Given the description of an element on the screen output the (x, y) to click on. 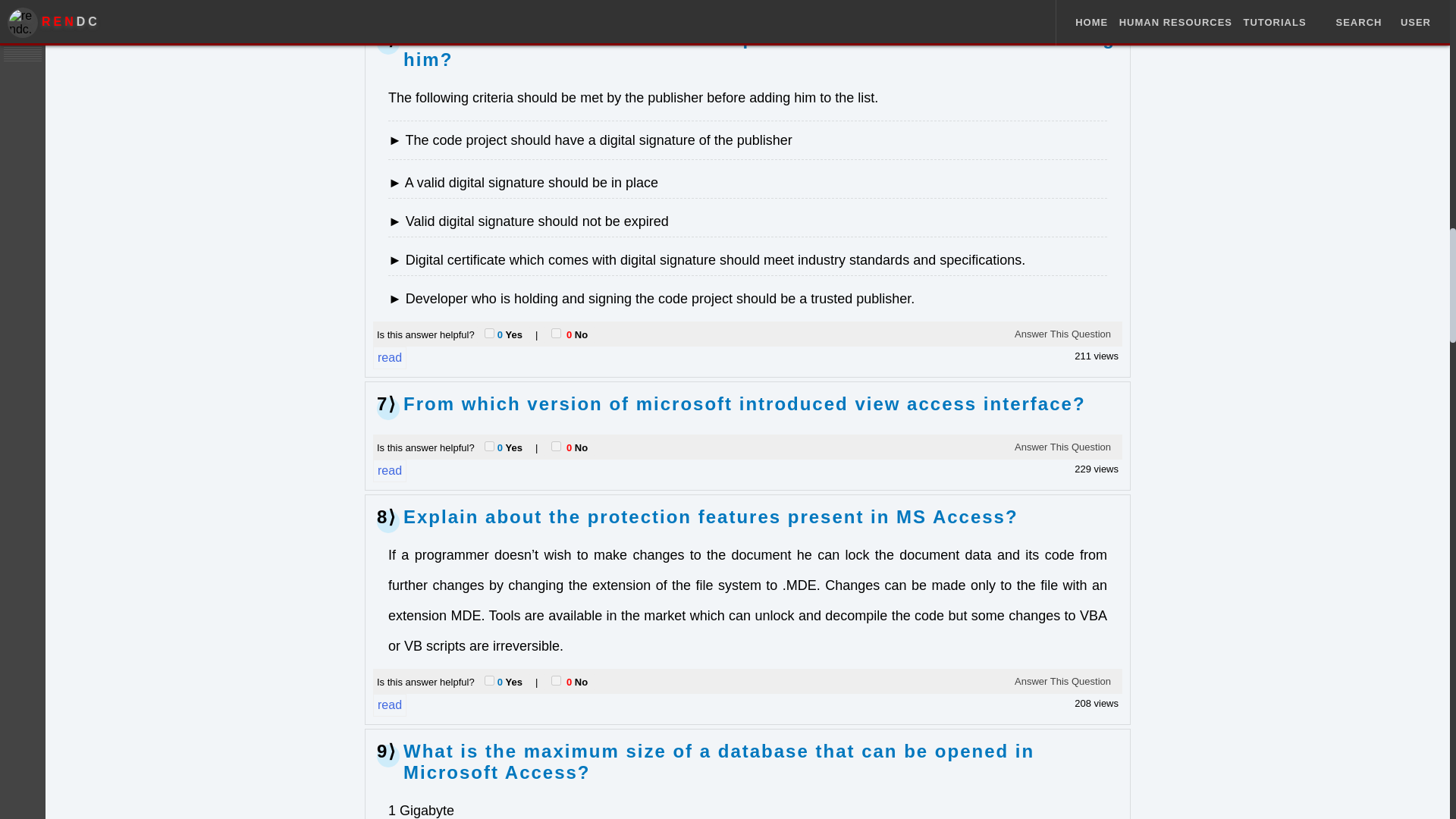
on (555, 446)
on (489, 446)
on (555, 332)
on (555, 679)
on (489, 679)
on (489, 332)
